Given the description of an element on the screen output the (x, y) to click on. 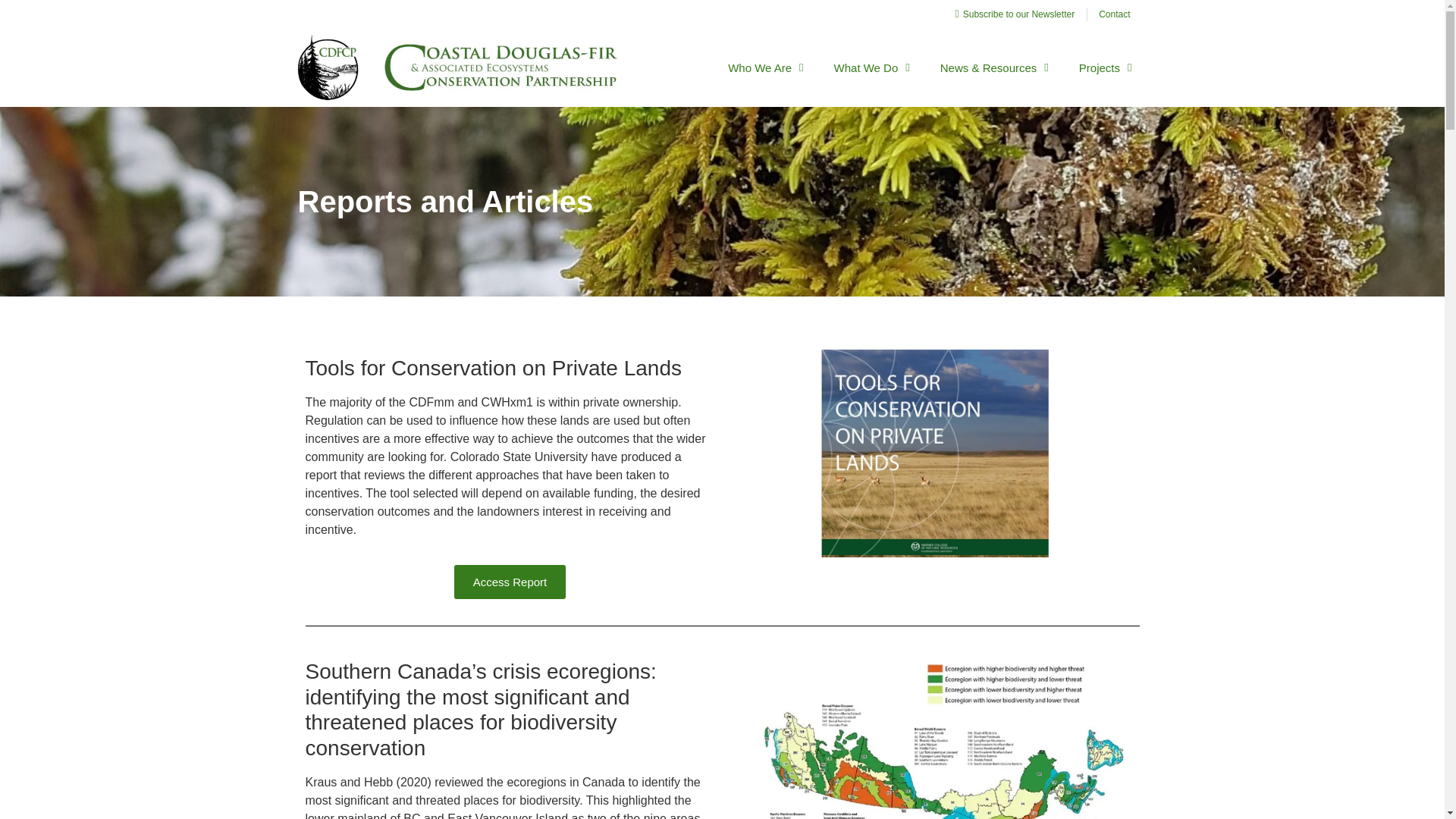
What We Do (871, 67)
Who We Are (765, 67)
Subscribe to our Newsletter (1009, 14)
Contact (1114, 14)
Projects (1105, 67)
